Given the description of an element on the screen output the (x, y) to click on. 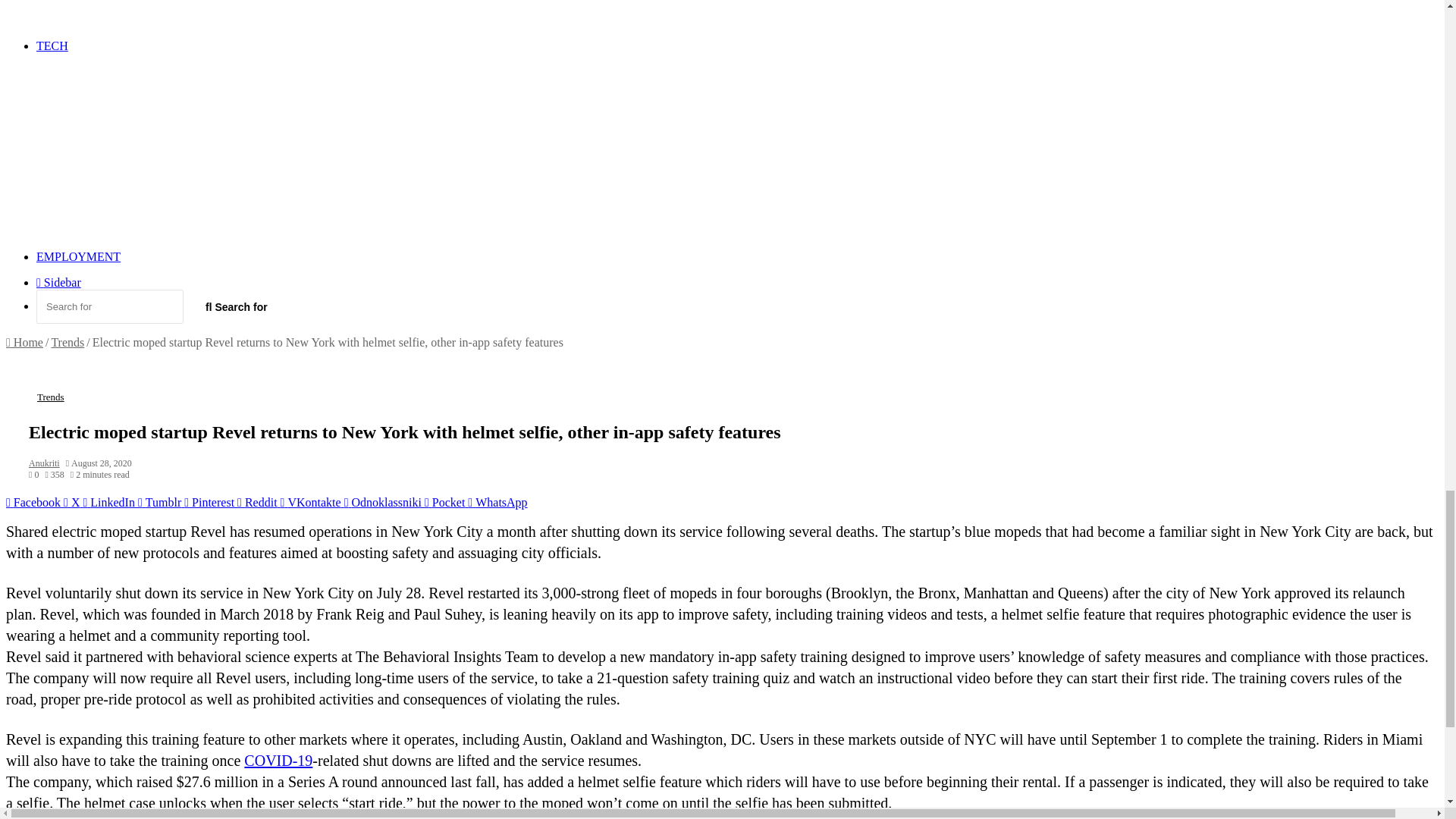
Pinterest (210, 502)
Search for (109, 306)
LinkedIn (110, 502)
Pocket (446, 502)
Odnoklassniki (384, 502)
Reddit (259, 502)
Tumblr (161, 502)
Anukriti (44, 462)
Facebook (34, 502)
VKontakte (312, 502)
